Given the description of an element on the screen output the (x, y) to click on. 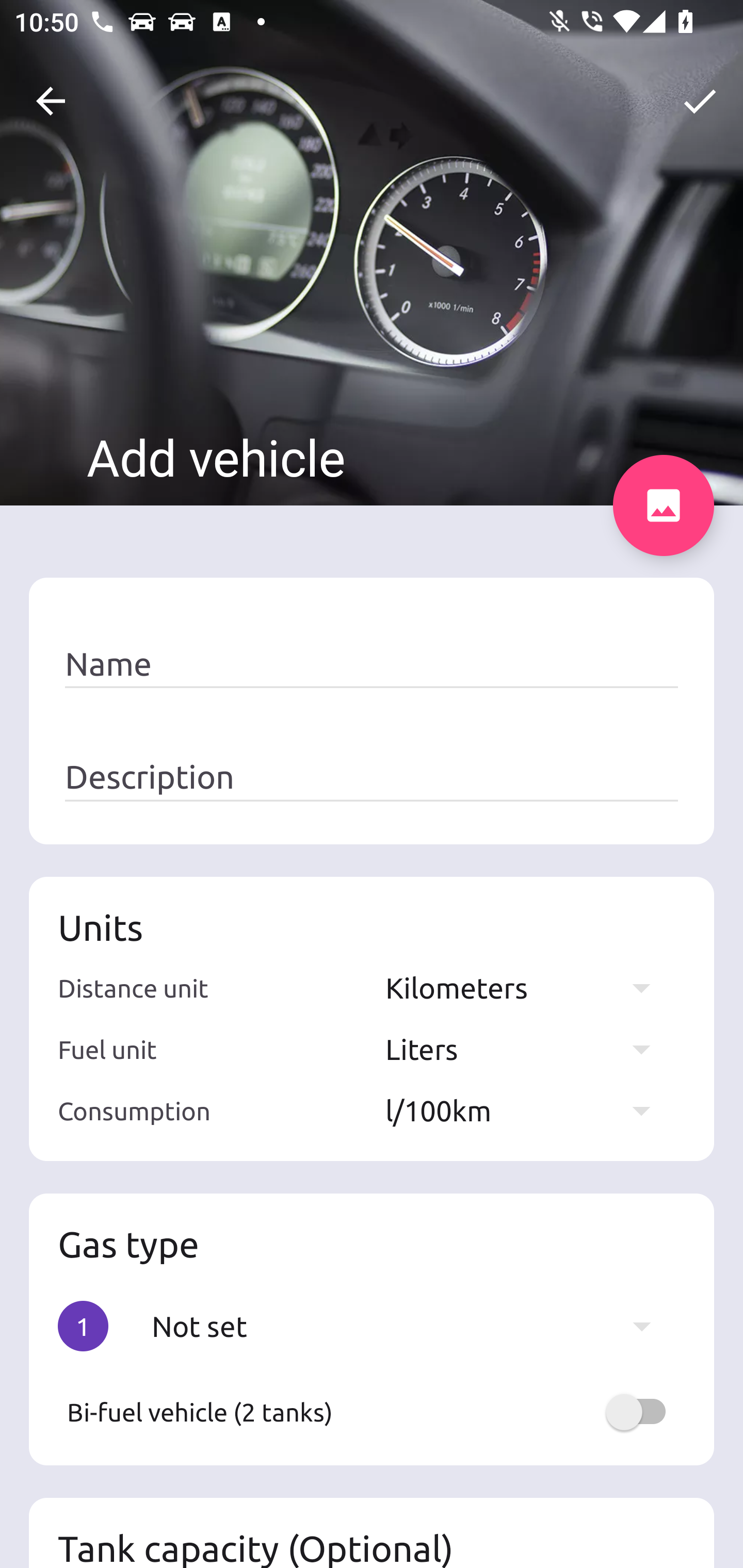
Navigate up (50, 101)
OK (699, 101)
Name (371, 664)
Description (371, 777)
Kilometers (527, 987)
Liters (527, 1048)
l/100km (527, 1110)
Not set (411, 1325)
Bi-fuel vehicle (2 tanks) (371, 1411)
